Given the description of an element on the screen output the (x, y) to click on. 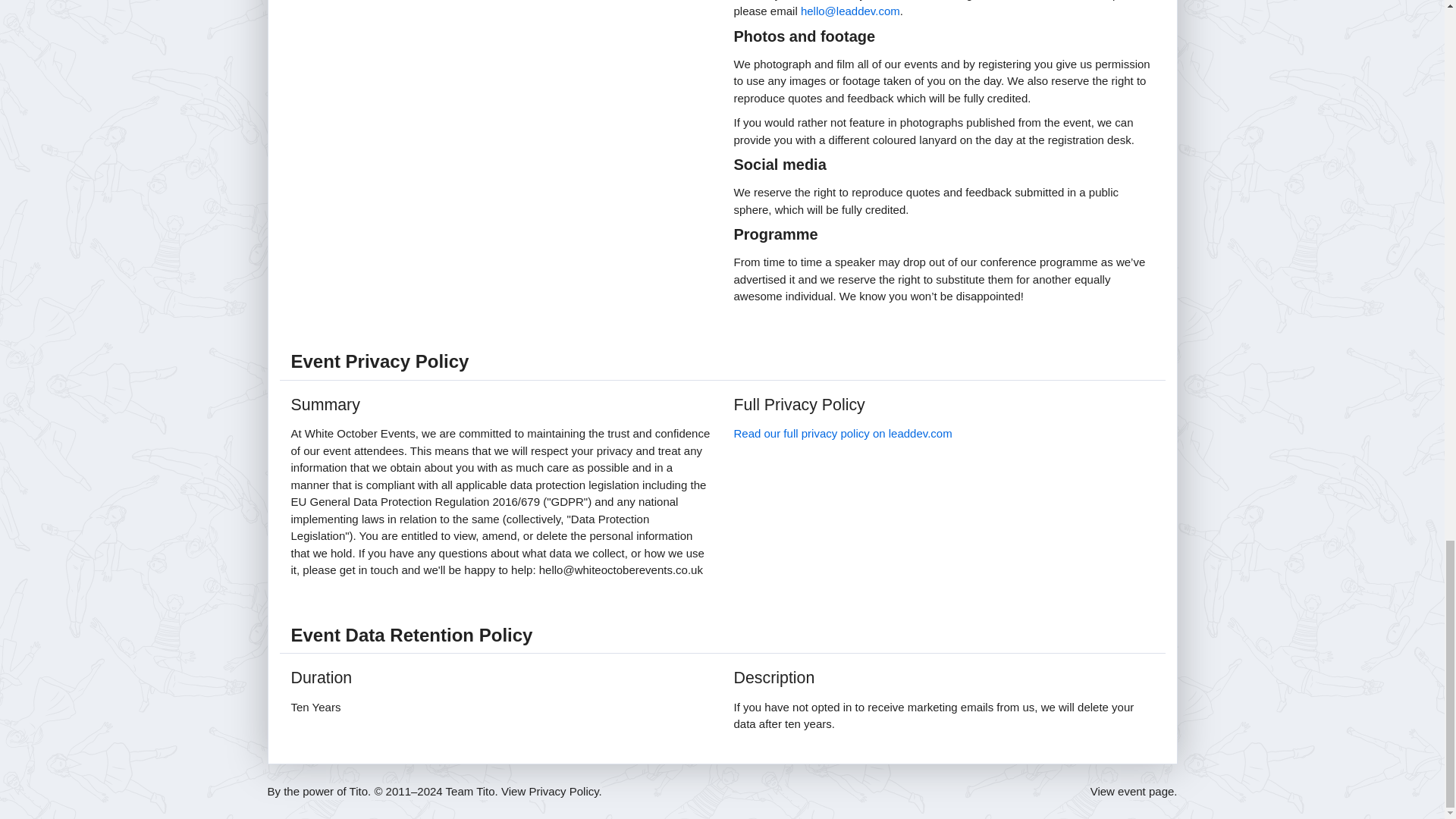
View Privacy Policy. (551, 790)
View event page. (1133, 790)
Read our full privacy policy on leaddev.com (842, 432)
